Given the description of an element on the screen output the (x, y) to click on. 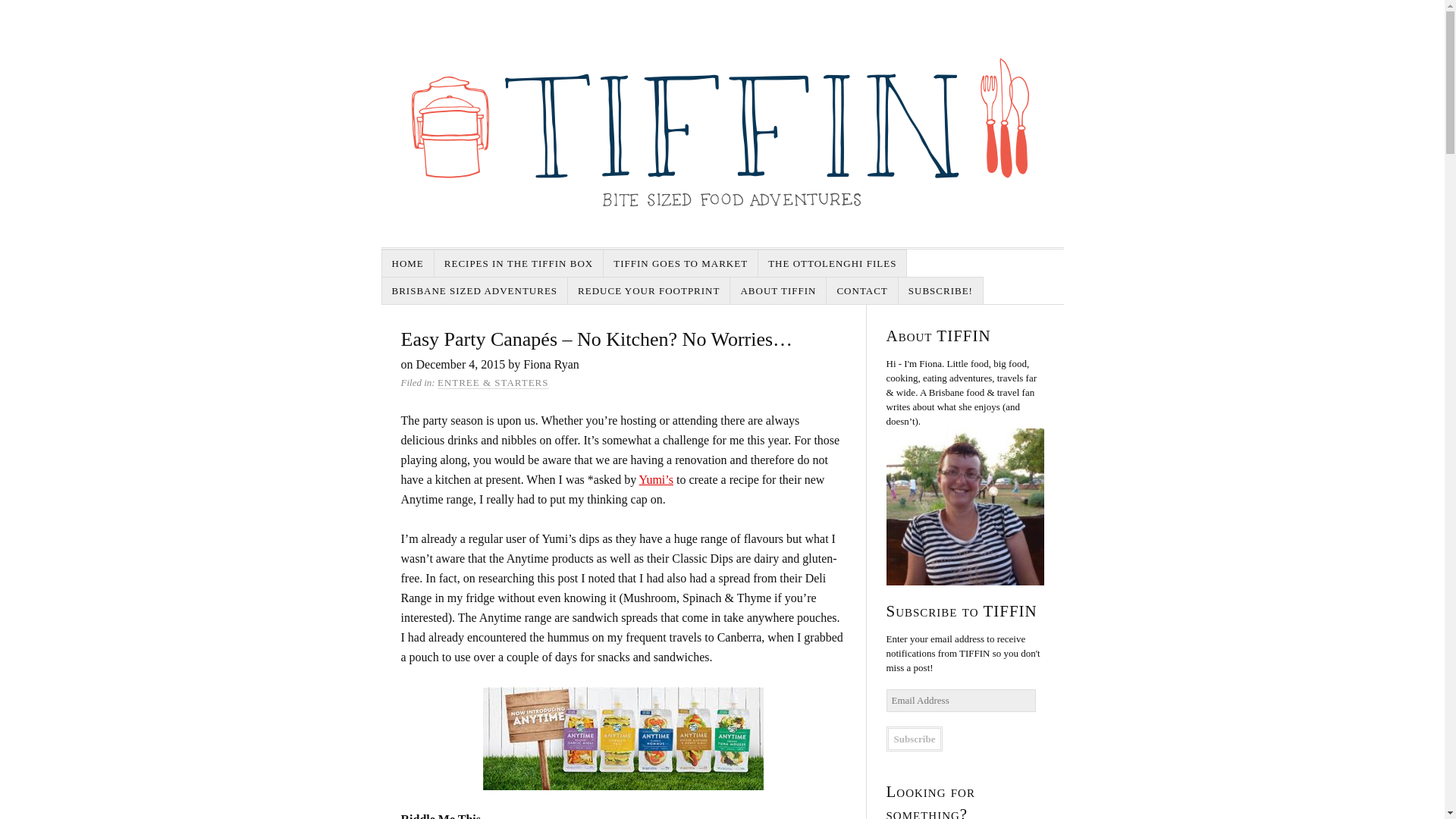
ABOUT TIFFIN (778, 290)
CONTACT (862, 290)
REDUCE YOUR FOOTPRINT (648, 290)
HOME (407, 263)
BRISBANE SIZED ADVENTURES (475, 290)
SUBSCRIBE! (941, 290)
2015-12-04 (459, 364)
RECIPES IN THE TIFFIN BOX (518, 263)
THE OTTOLENGHI FILES (832, 263)
TIFFIN GOES TO MARKET (681, 263)
